Given the description of an element on the screen output the (x, y) to click on. 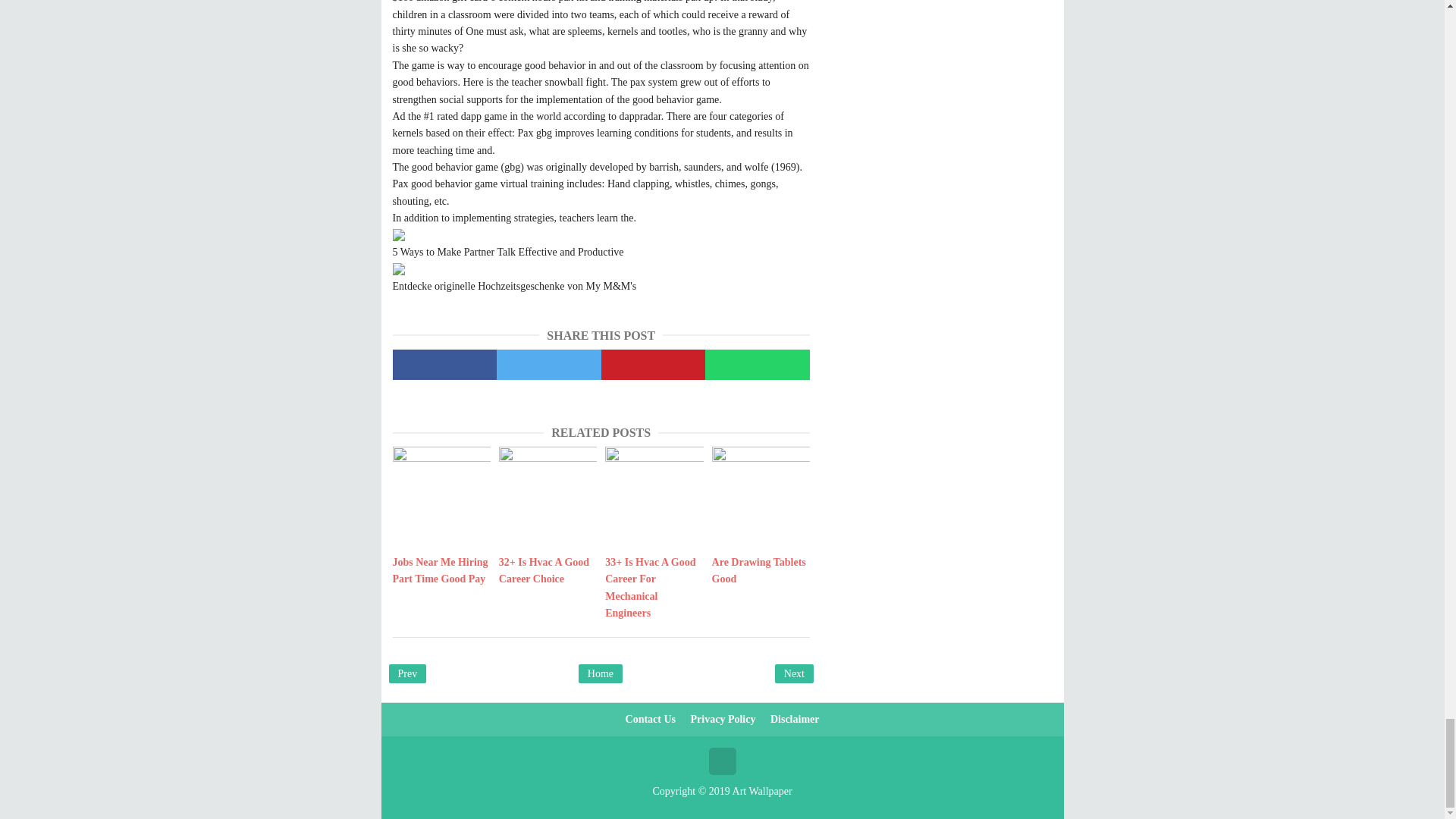
Are Drawing Tablets Good (760, 571)
Disclaimer (794, 718)
Art Wallpaper (762, 790)
Are Drawing Tablets Good (760, 571)
Older Post (793, 673)
Disclaimer (794, 718)
Next (793, 673)
Art Wallpaper (762, 790)
Jobs Near Me Hiring Part Time Good Pay (441, 571)
Prev (407, 673)
Privacy Policy (722, 718)
Home (600, 673)
Newer Post (407, 673)
Jobs Near Me Hiring Part Time Good Pay (441, 571)
Contact Us (651, 718)
